Given the description of an element on the screen output the (x, y) to click on. 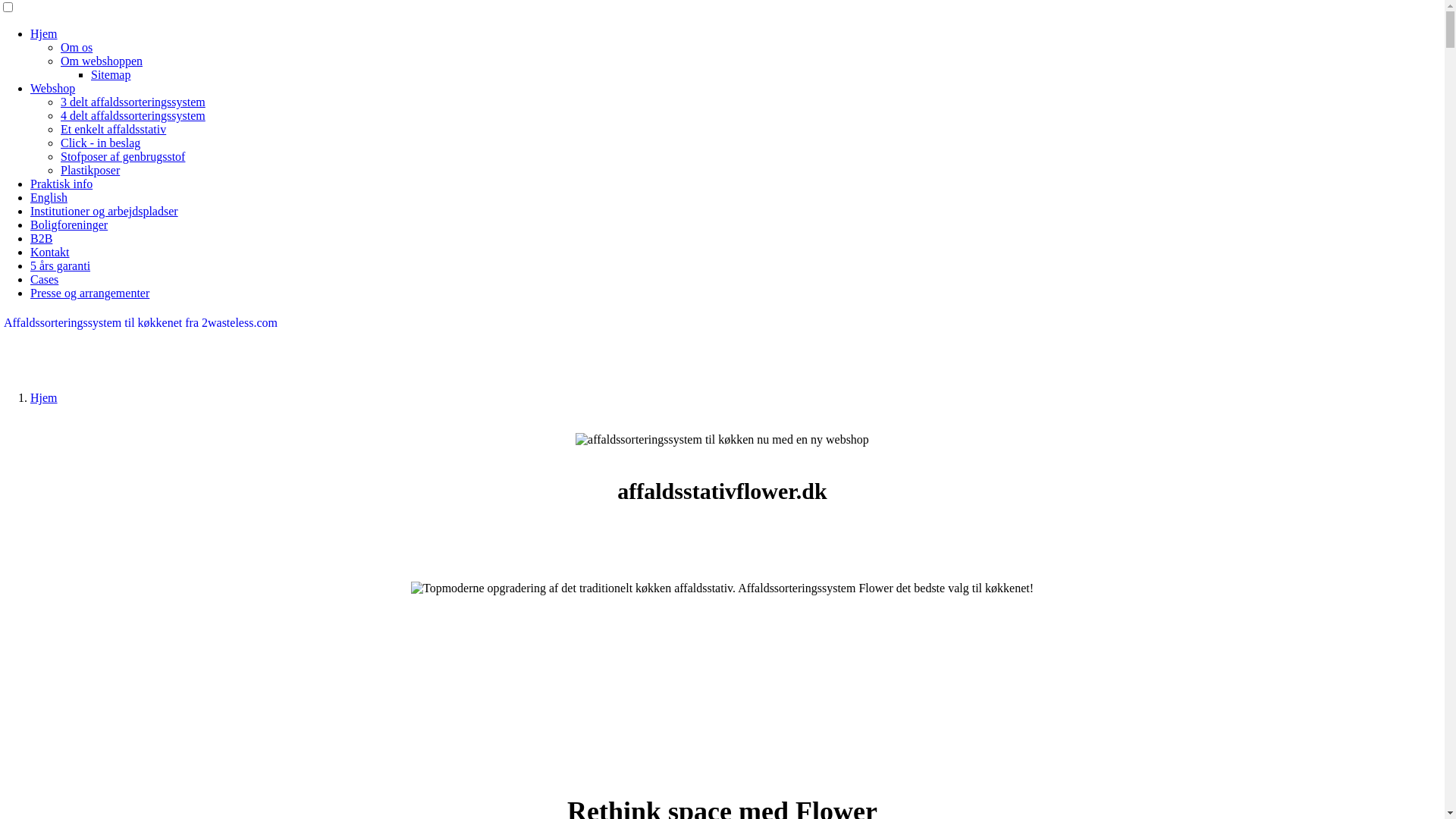
Stofposer af genbrugsstof Element type: text (122, 156)
B2B Element type: text (41, 238)
Presse og arrangementer Element type: text (89, 292)
Cases Element type: text (44, 279)
Om webshoppen Element type: text (101, 60)
Institutioner og arbejdspladser Element type: text (104, 210)
Plastikposer Element type: text (89, 169)
Et enkelt affaldsstativ Element type: text (113, 128)
4 delt affaldssorteringssystem Element type: text (132, 115)
Sitemap Element type: text (110, 74)
Hjem Element type: text (43, 33)
Om os Element type: text (76, 46)
Click - in beslag Element type: text (100, 142)
Hjem Element type: text (43, 397)
3 delt affaldssorteringssystem Element type: text (132, 101)
Praktisk info Element type: text (61, 183)
Webshop Element type: text (52, 87)
English Element type: text (48, 197)
Boligforeninger Element type: text (68, 224)
Kontakt Element type: text (49, 251)
